Given the description of an element on the screen output the (x, y) to click on. 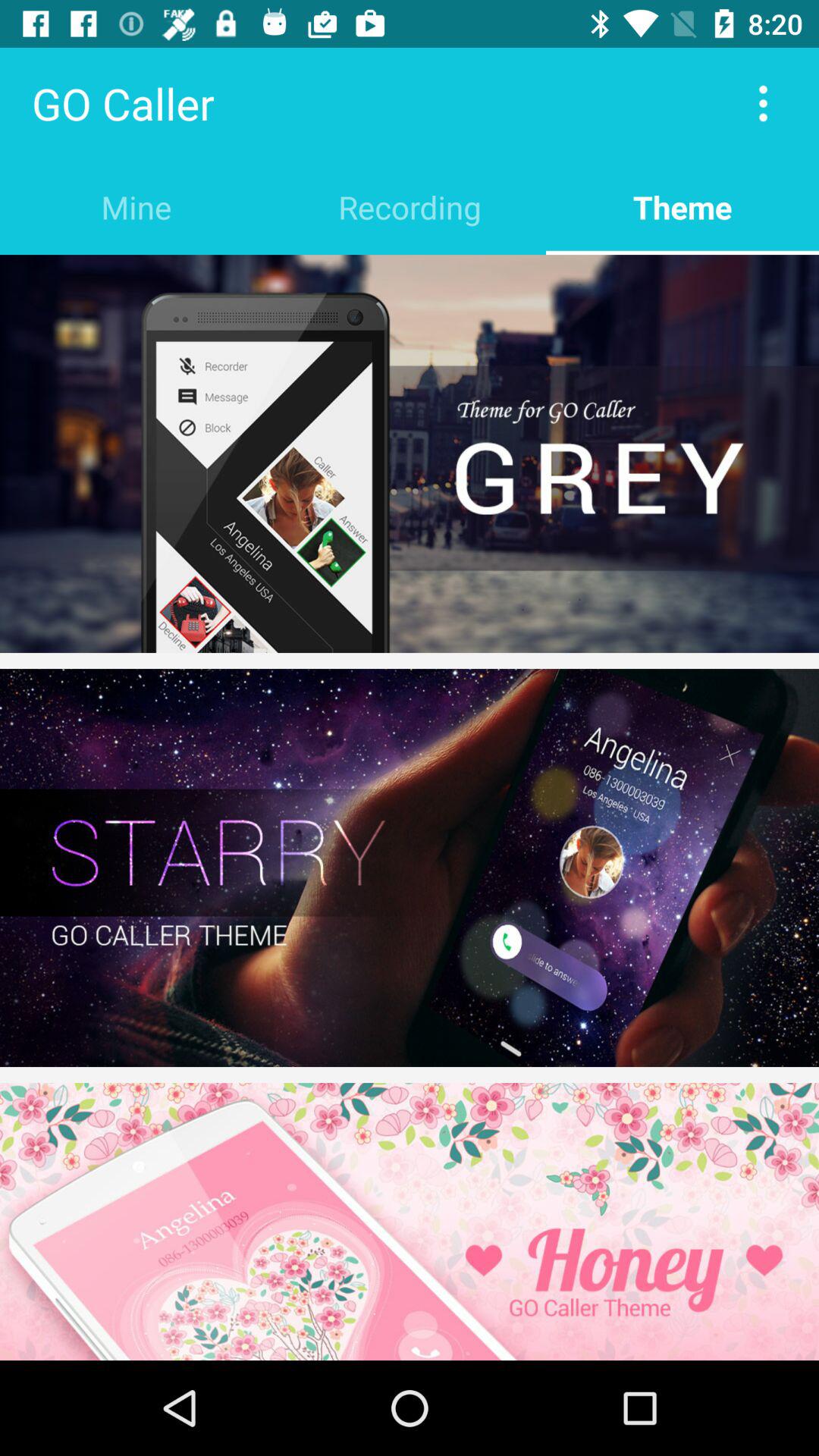
tap the icon next to the recording (136, 206)
